Given the description of an element on the screen output the (x, y) to click on. 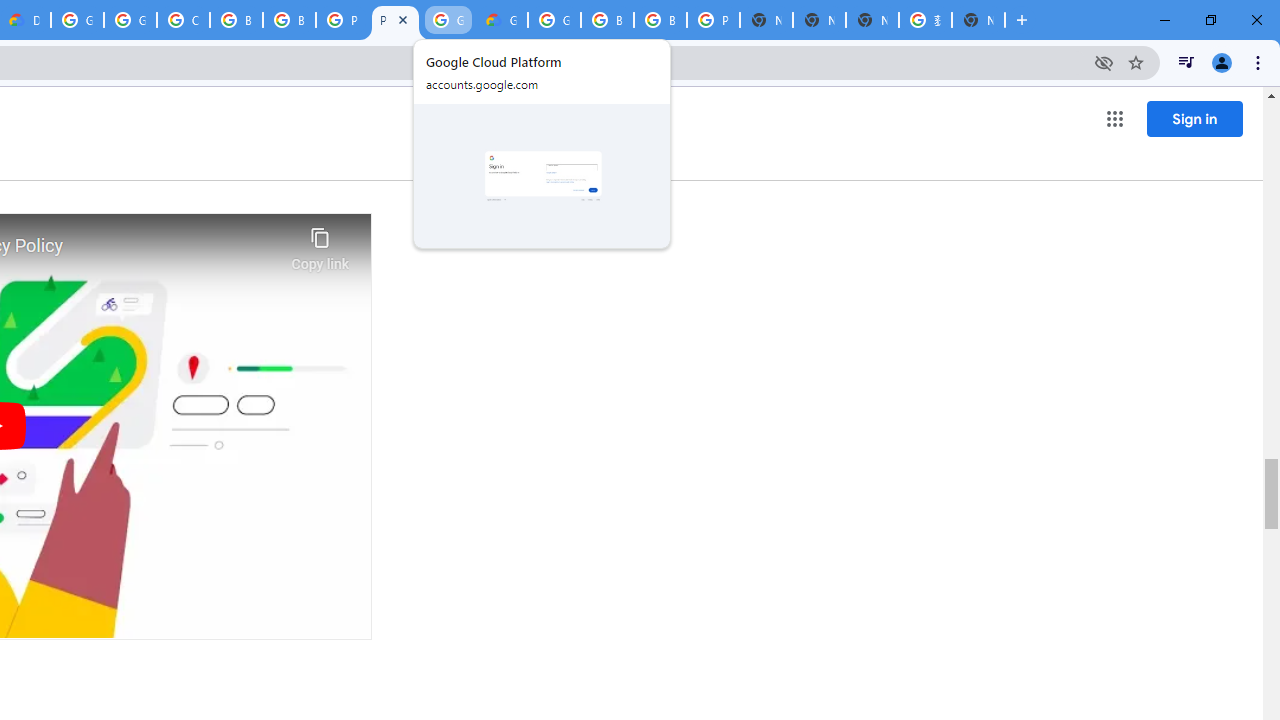
Browse Chrome as a guest - Computer - Google Chrome Help (660, 20)
Google Cloud Platform (554, 20)
New Tab (766, 20)
New Tab (978, 20)
Google apps (1114, 118)
Copy link (319, 244)
Sign in (1194, 118)
